Given the description of an element on the screen output the (x, y) to click on. 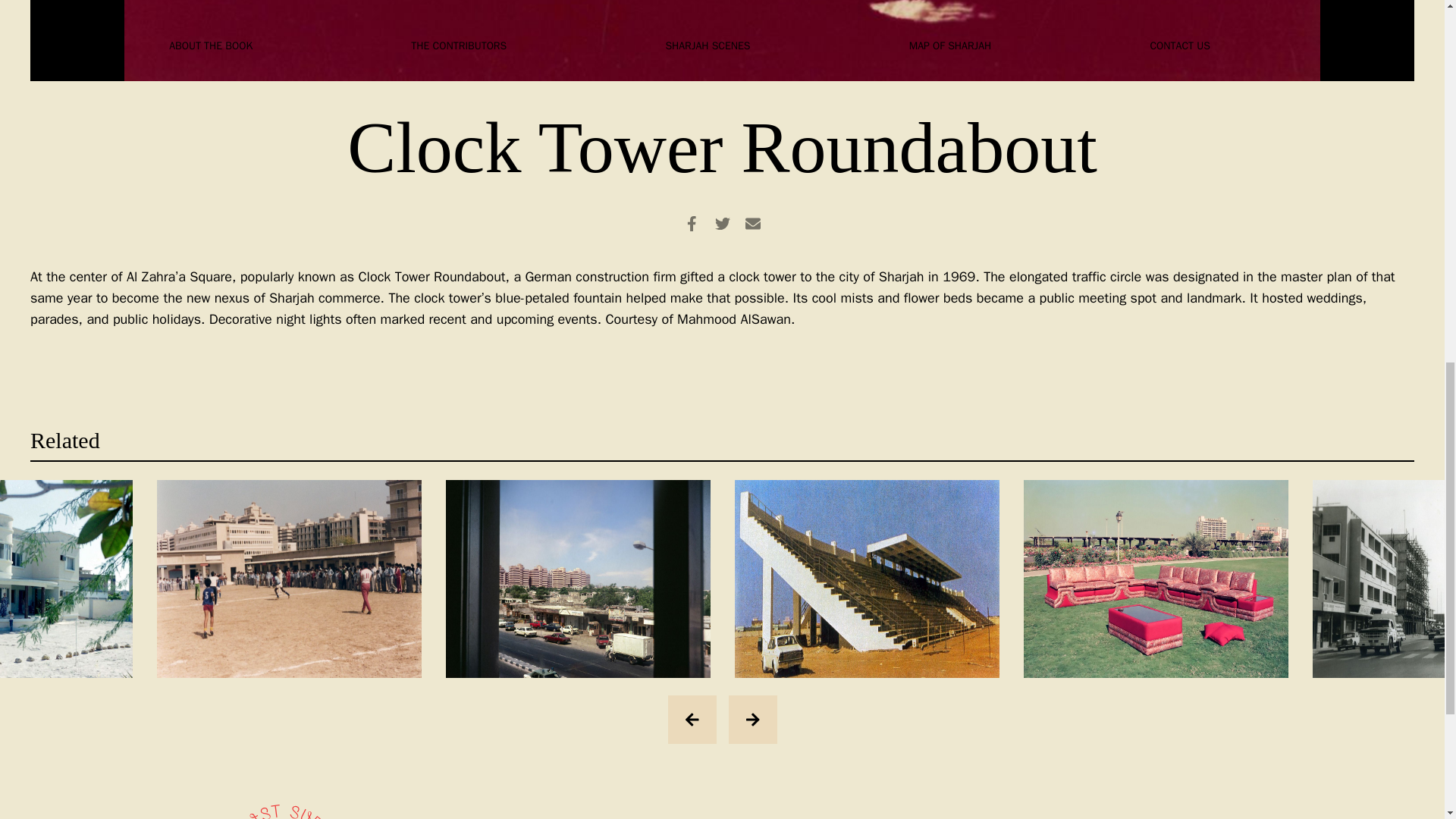
Smile, You Are in Sharjah (1155, 578)
Al Qasimiyah School (287, 578)
Granada Buildings (577, 578)
